Given the description of an element on the screen output the (x, y) to click on. 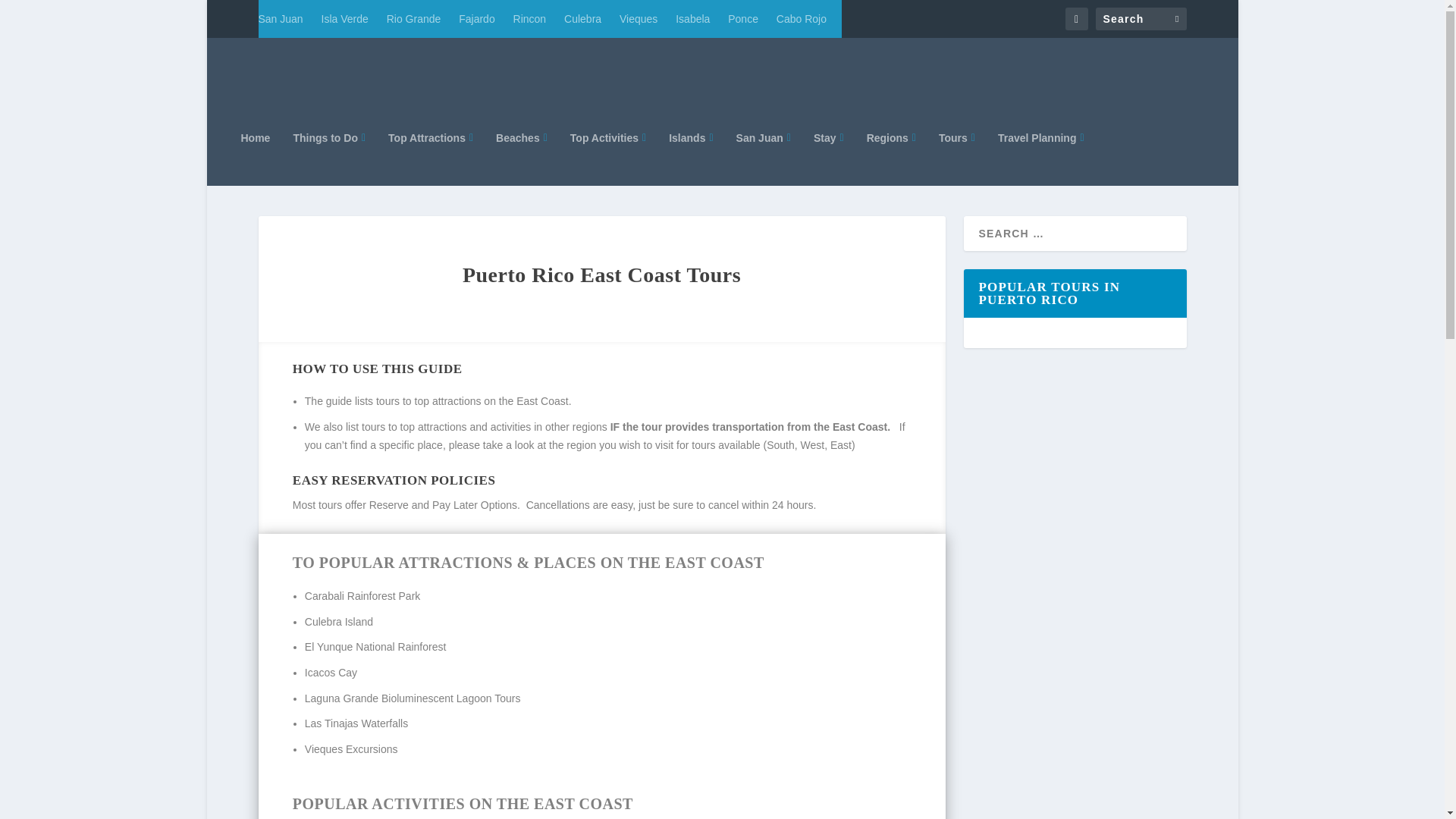
Vieques (639, 18)
Beaches (521, 158)
Ponce (743, 18)
Isla Verde (344, 18)
San Juan (279, 18)
Rio Grande (414, 18)
Culebra (582, 18)
Puerto Rico Things to Do (255, 158)
Fajardo (476, 18)
Things to Do (328, 158)
Home (255, 158)
Rincon (530, 18)
Cabo Rojo (801, 18)
Top Attractions (430, 158)
Isabela (692, 18)
